Given the description of an element on the screen output the (x, y) to click on. 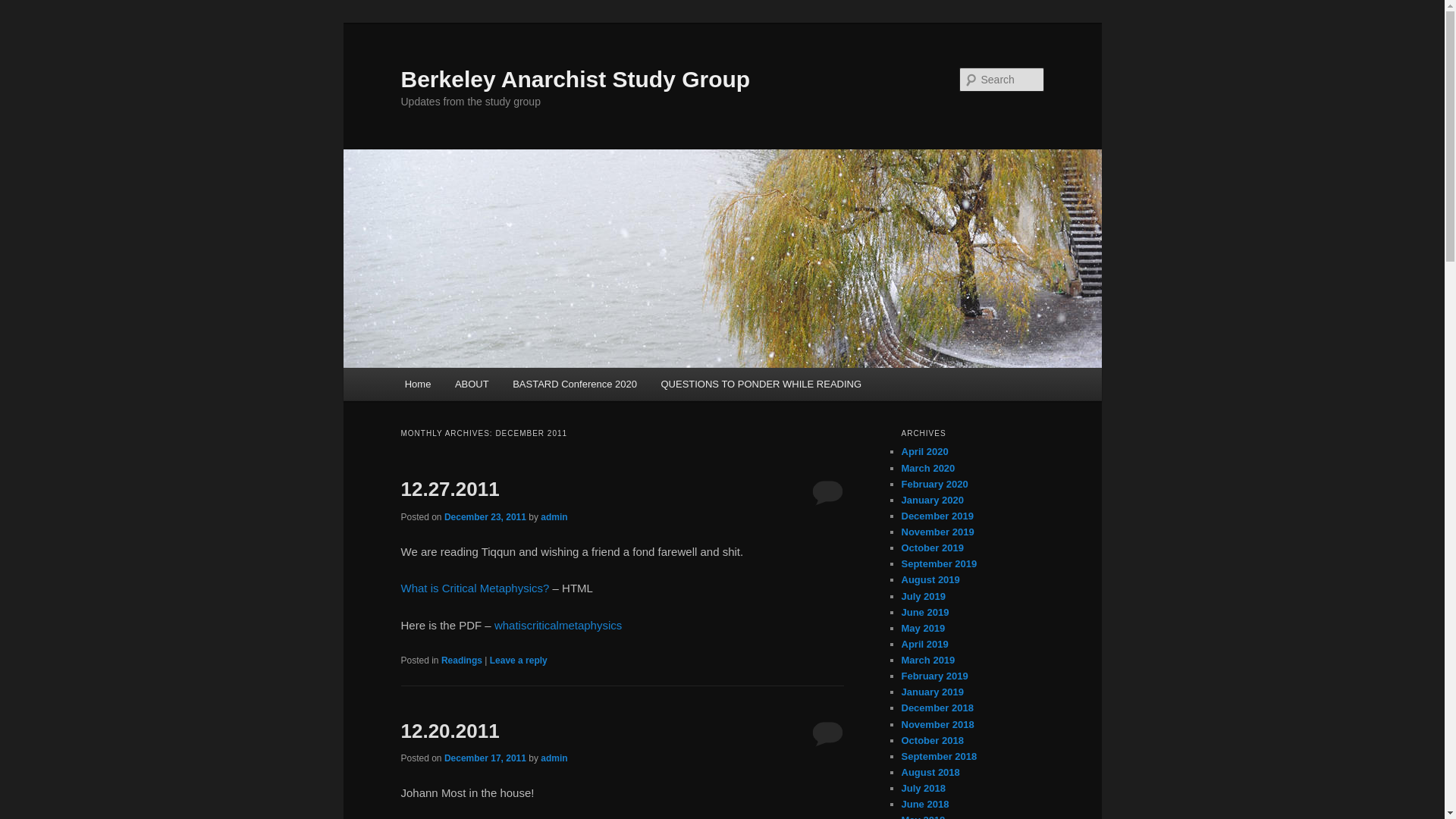
12.20.2011 (449, 730)
What is Critical Metaphysics? (474, 587)
ABOUT (471, 383)
Leave a reply (518, 660)
admin (553, 516)
Home (417, 383)
April 2020 (924, 451)
December 23, 2011 (484, 516)
December 17, 2011 (484, 757)
12.27.2011 (449, 488)
Readings (461, 660)
March 2020 (928, 468)
QUESTIONS TO PONDER WHILE READING (761, 383)
View all posts by admin (553, 516)
